Given the description of an element on the screen output the (x, y) to click on. 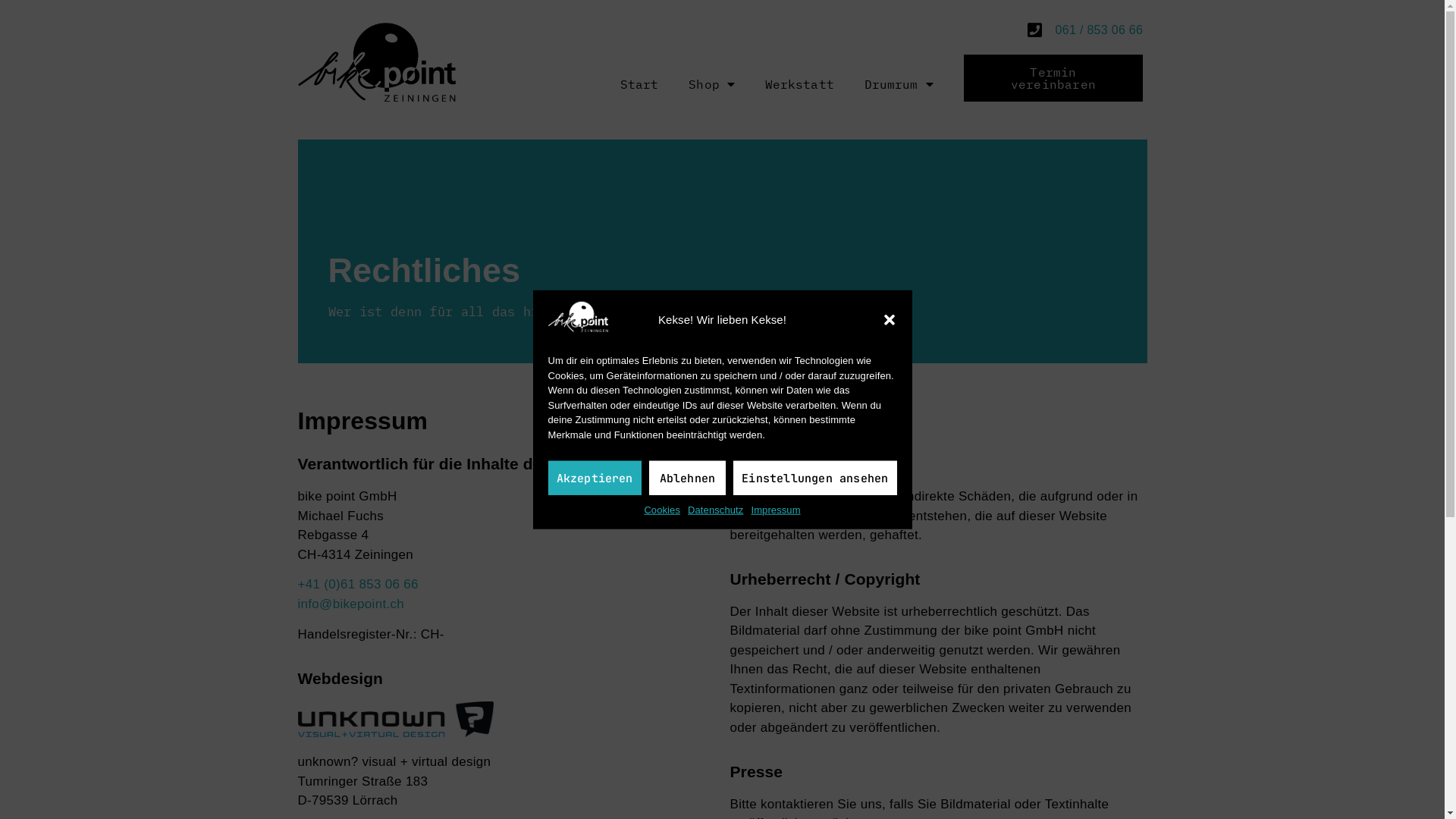
Start Element type: text (639, 83)
+41 (0)61 853 06 66 Element type: text (357, 584)
Datenschutz Element type: text (715, 509)
info@bikepoint.ch Element type: text (350, 603)
Werkstatt Element type: text (799, 83)
Impressum Element type: text (775, 509)
Einstellungen ansehen Element type: text (814, 478)
Drumrum Element type: text (898, 83)
Shop Element type: text (711, 83)
Cookies Element type: text (661, 509)
061 / 853 06 66 Element type: text (1053, 30)
Termin vereinbaren Element type: text (1053, 77)
Ablehnen Element type: text (687, 478)
Akzeptieren Element type: text (593, 478)
